Given the description of an element on the screen output the (x, y) to click on. 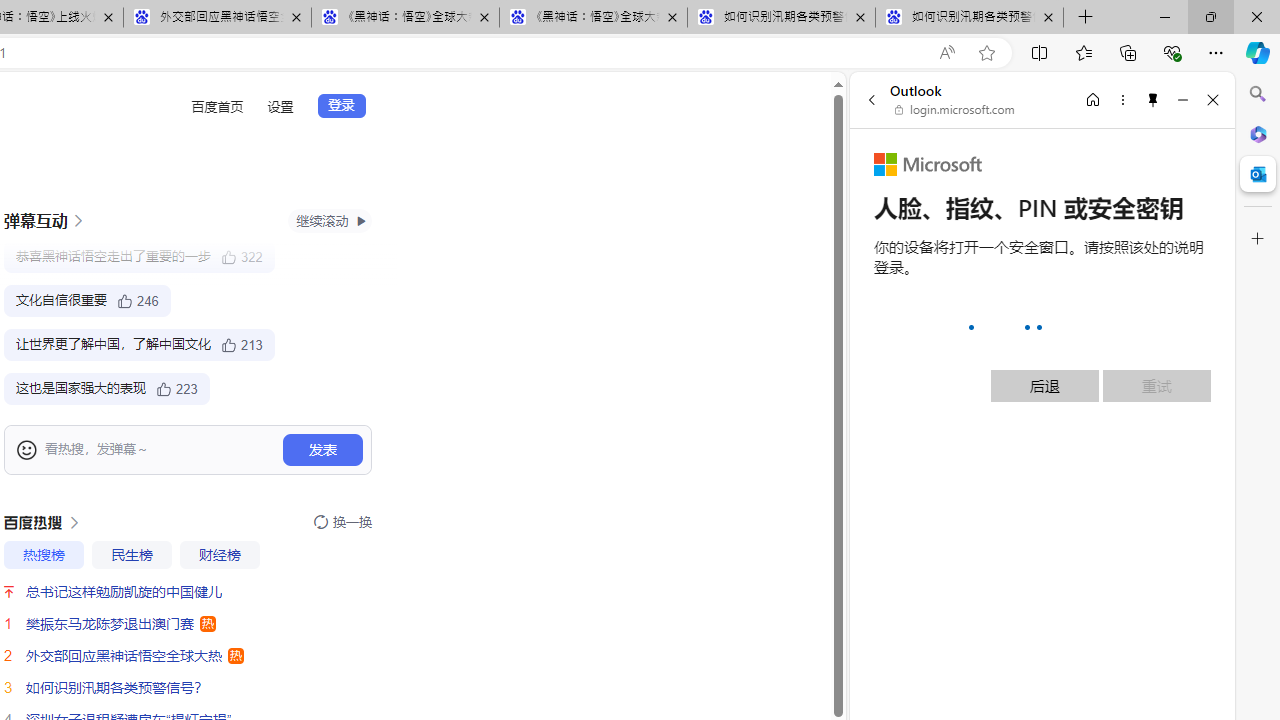
login.microsoft.com (955, 110)
Microsoft (927, 164)
